Given the description of an element on the screen output the (x, y) to click on. 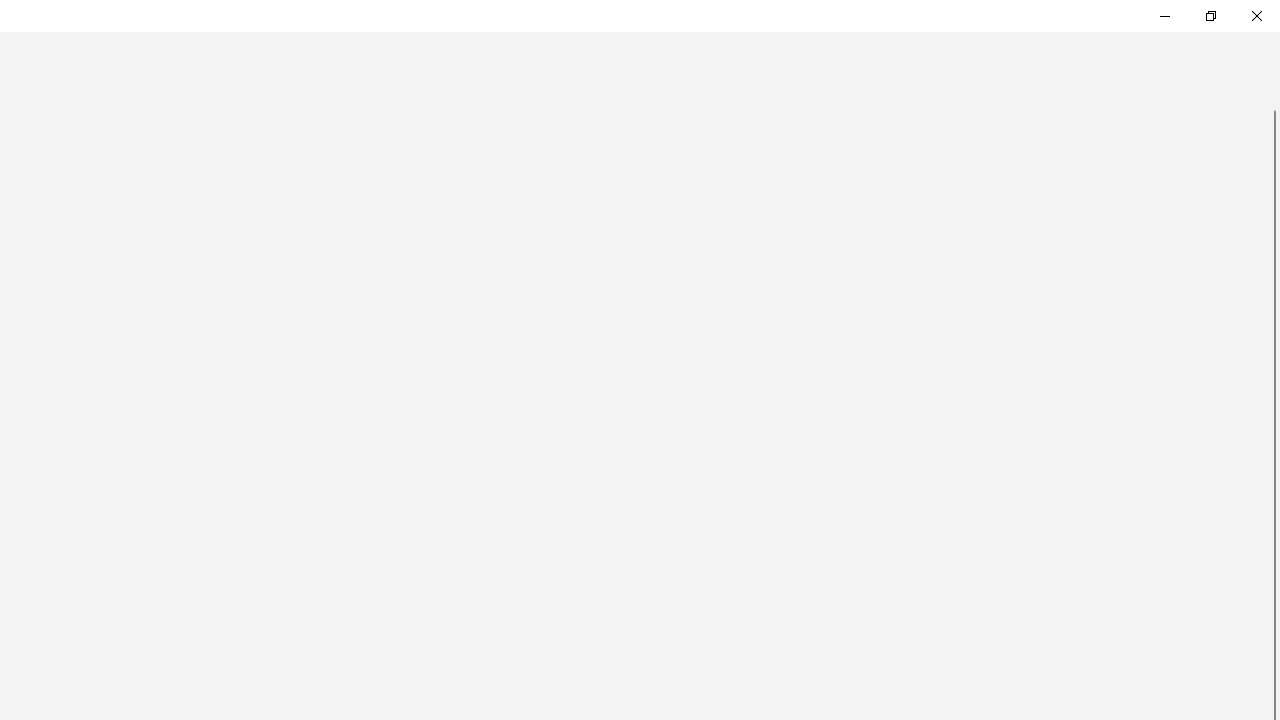
Vertical Large Decrease (1272, 99)
Restore Feedback Hub (1210, 15)
Vertical Small Decrease (1272, 86)
Minimize Feedback Hub (1164, 15)
Close Feedback Hub (1256, 15)
